Given the description of an element on the screen output the (x, y) to click on. 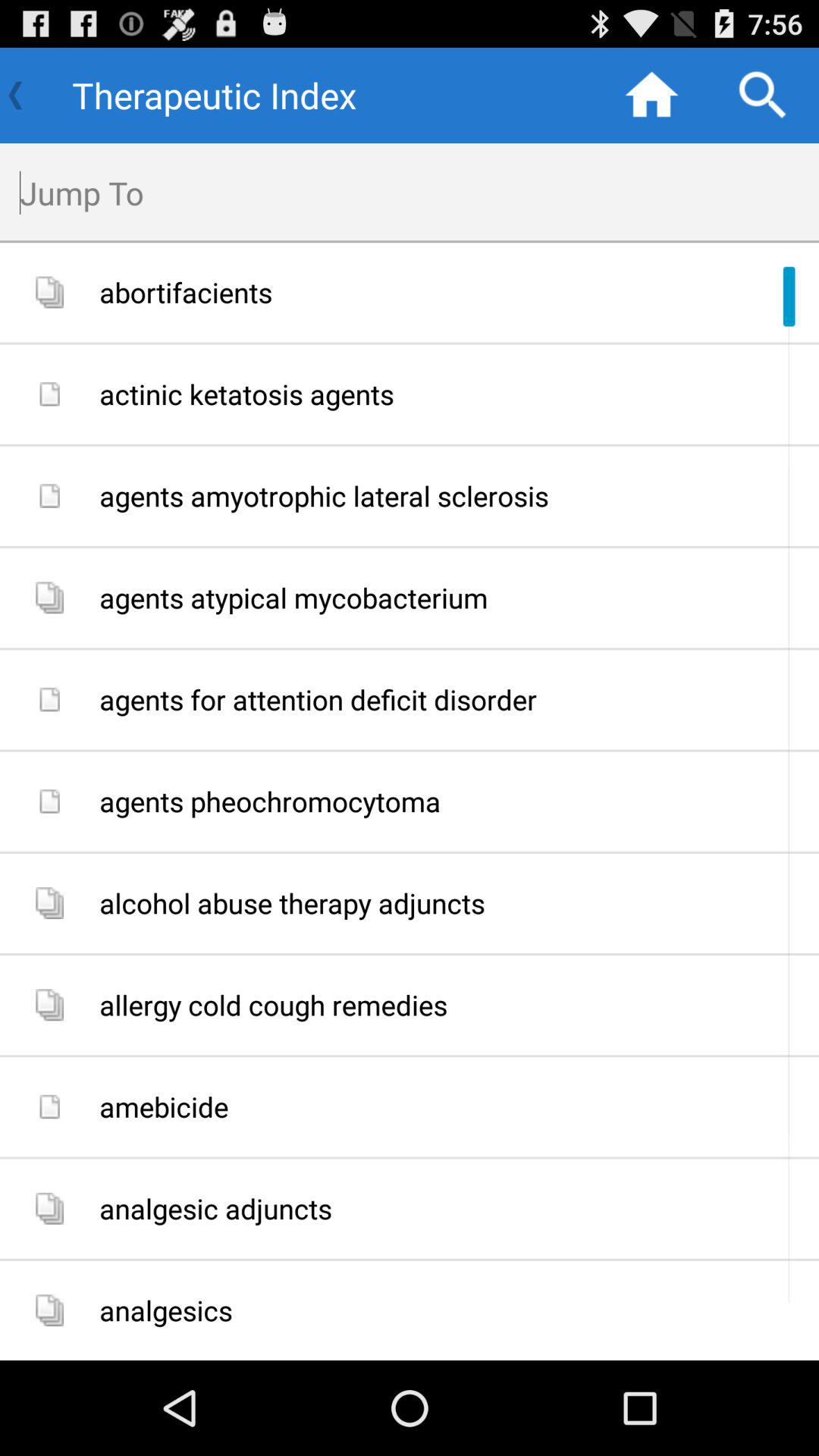
click alcohol abuse therapy icon (453, 903)
